Given the description of an element on the screen output the (x, y) to click on. 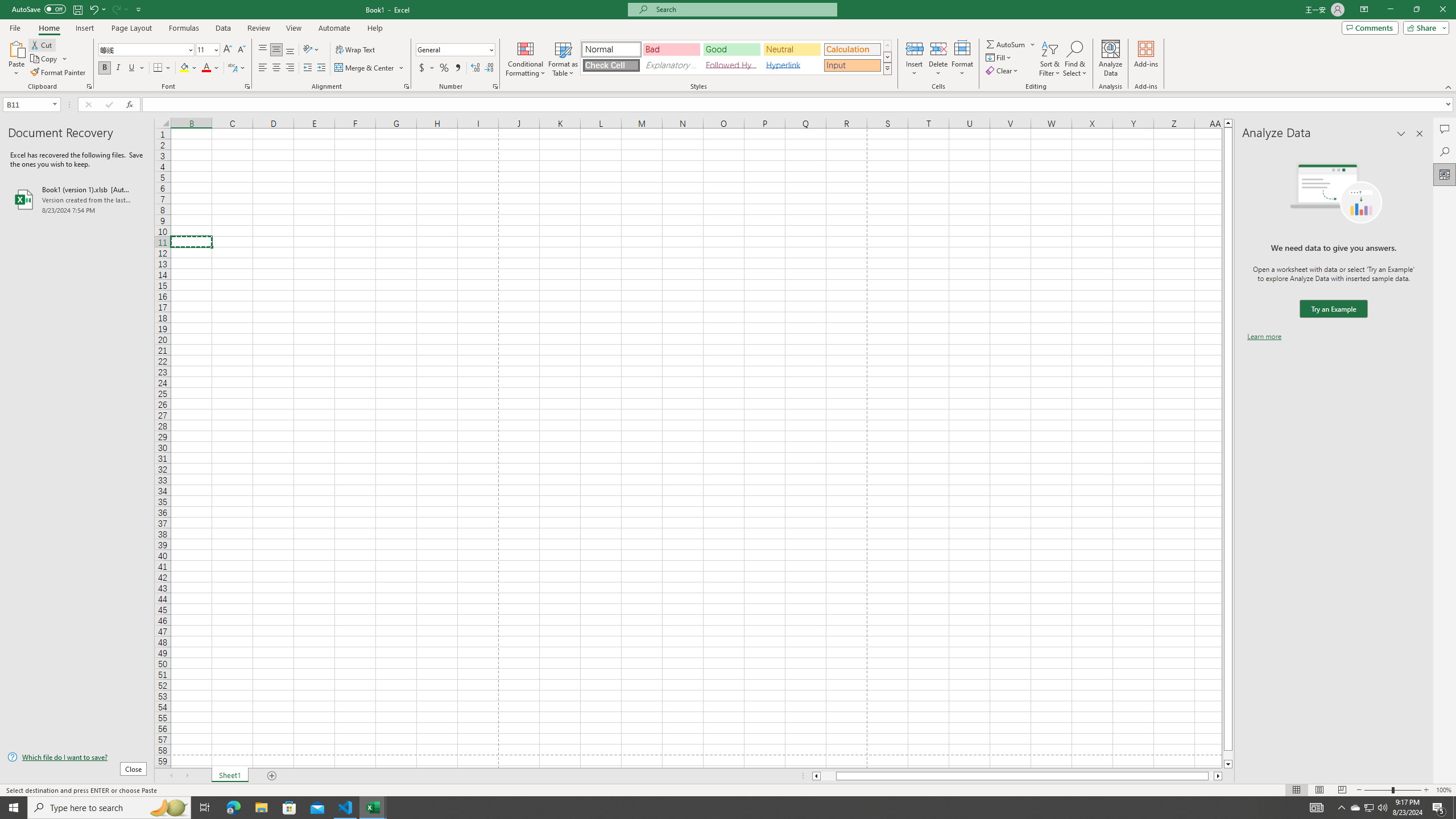
Font Size (204, 49)
Calculation (852, 49)
Fill Color (188, 67)
Good (731, 49)
Decrease Indent (307, 67)
